Given the description of an element on the screen output the (x, y) to click on. 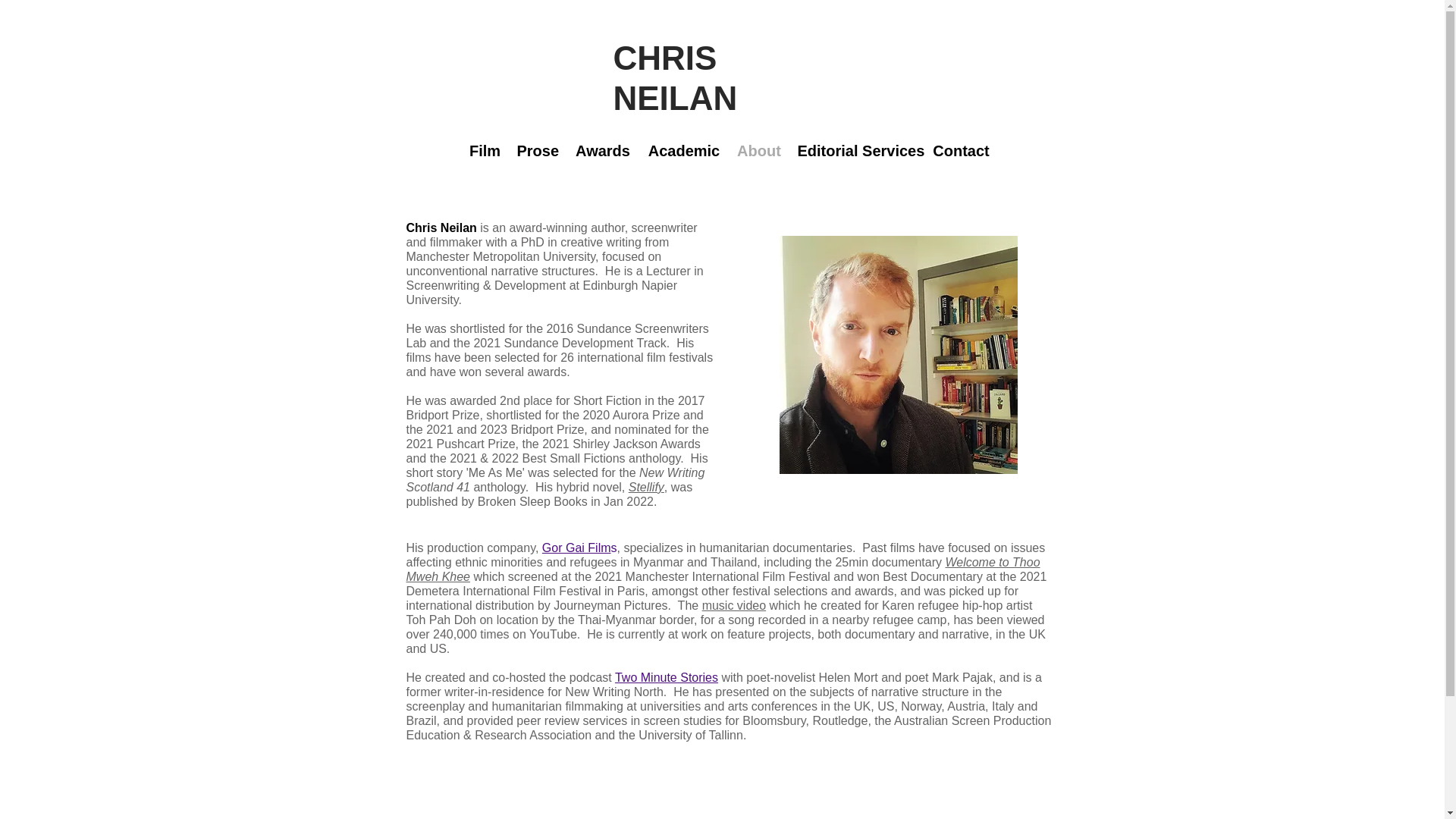
Two Minute Stories (665, 676)
Film (485, 150)
Academic (684, 150)
Stellify (645, 486)
Prose (537, 150)
Contact (960, 150)
Editorial Services (857, 150)
Awards (602, 150)
Welcome to Thoo Mweh Khee (723, 569)
music video (733, 604)
Gor Gai Film (576, 547)
About (758, 150)
